Given the description of an element on the screen output the (x, y) to click on. 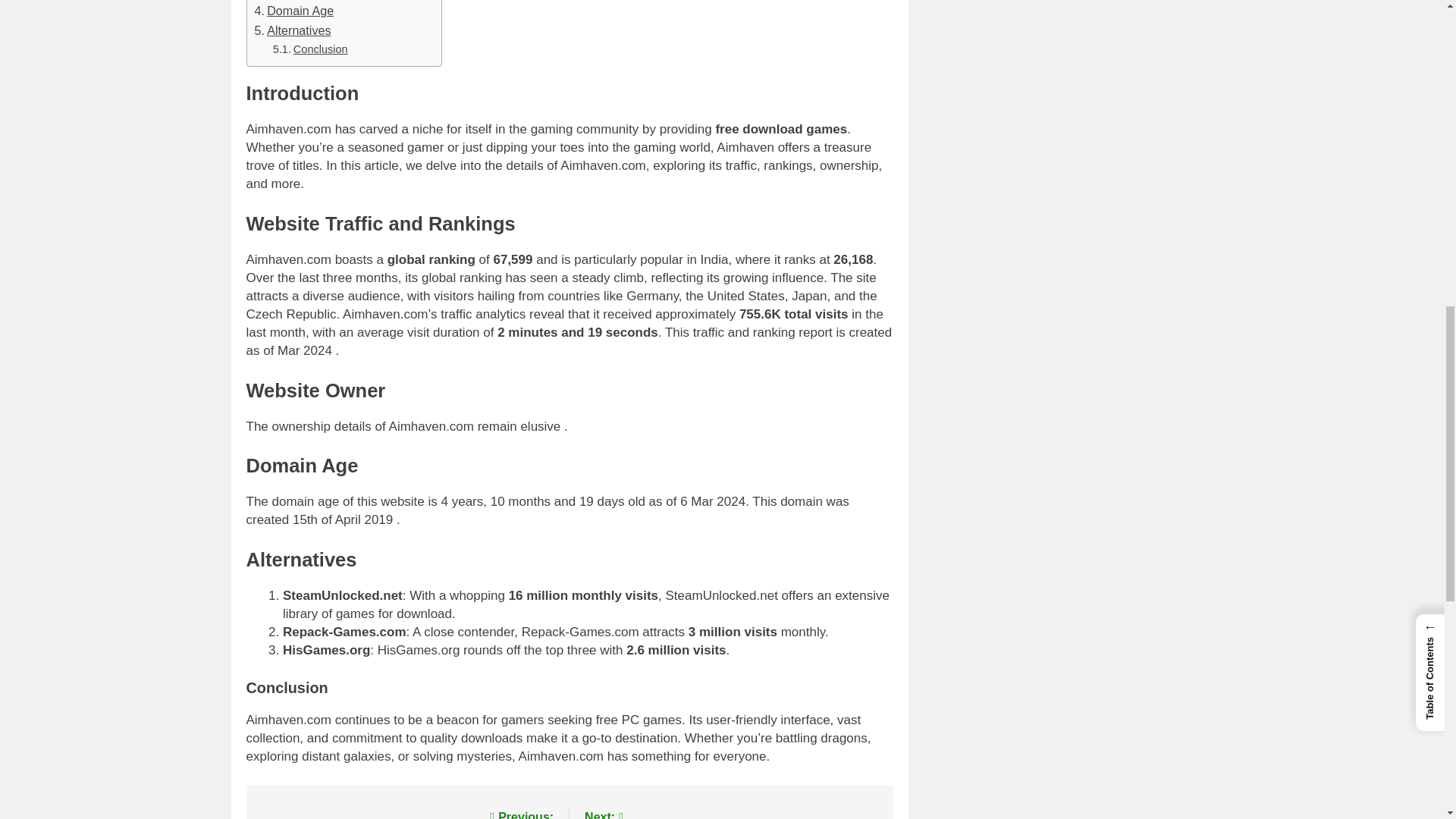
Conclusion (310, 49)
Alternatives (292, 30)
Website Owner (302, 0)
Domain Age (294, 11)
